Given the description of an element on the screen output the (x, y) to click on. 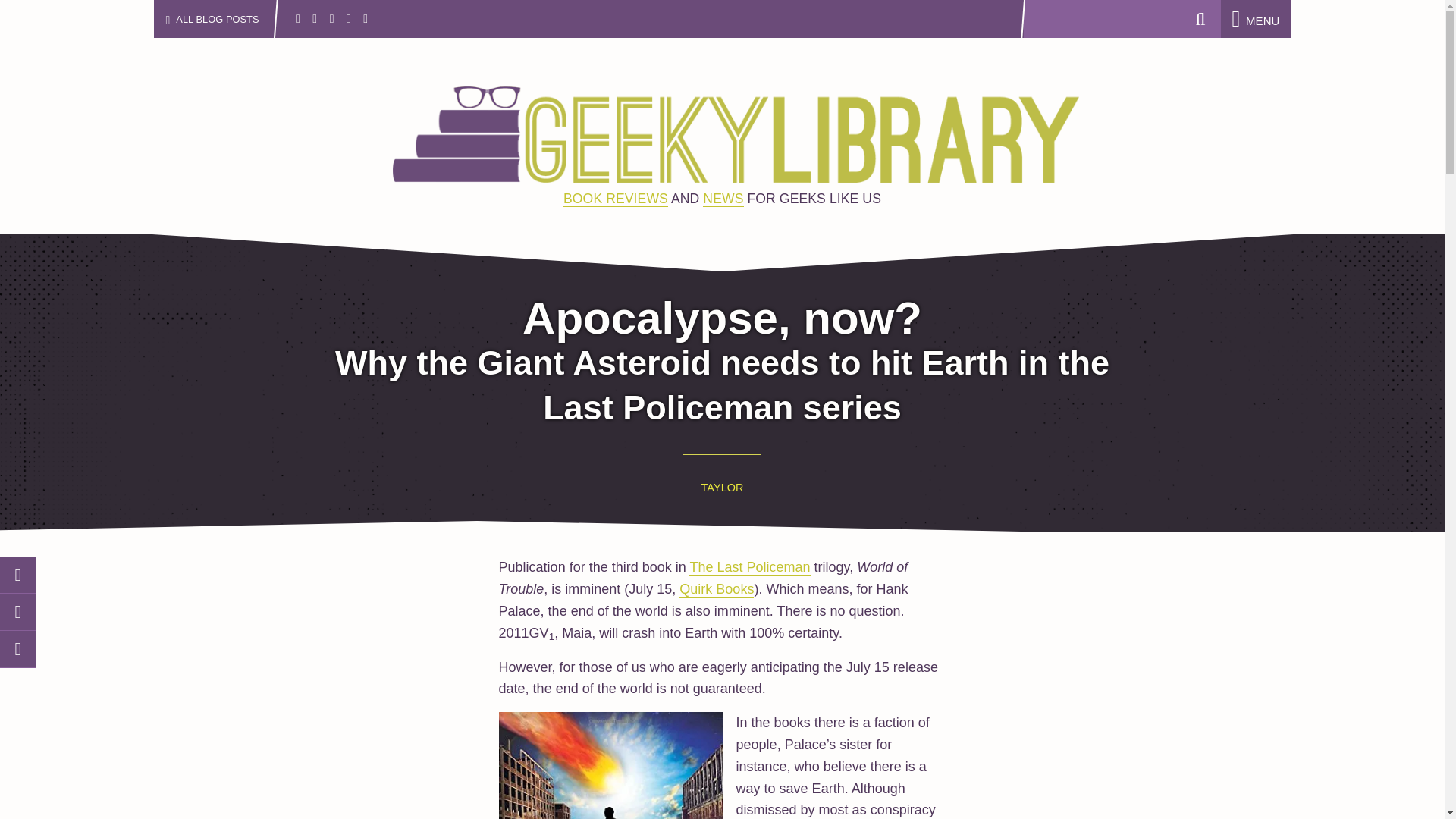
Posts by Taylor (722, 487)
ALL BLOG POSTS (223, 18)
Click to share on Facebook (18, 611)
BOOK REVIEWS (615, 198)
The Last Policeman (748, 567)
TAYLOR (722, 487)
Click to share on Twitter (18, 574)
Quirk Books (716, 589)
NEWS (722, 198)
MENU (1256, 20)
